Given the description of an element on the screen output the (x, y) to click on. 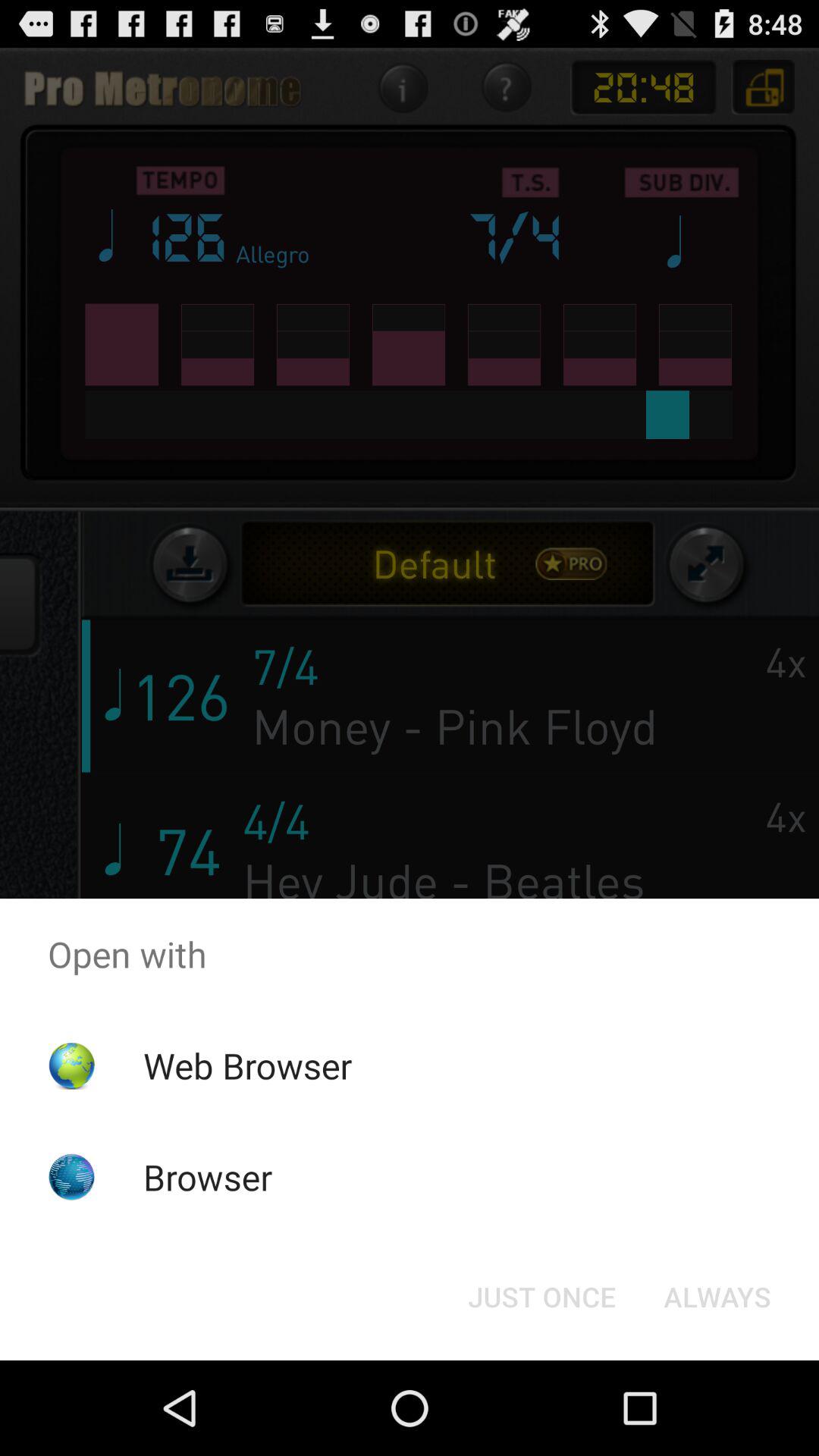
press app below the open with item (247, 1065)
